Given the description of an element on the screen output the (x, y) to click on. 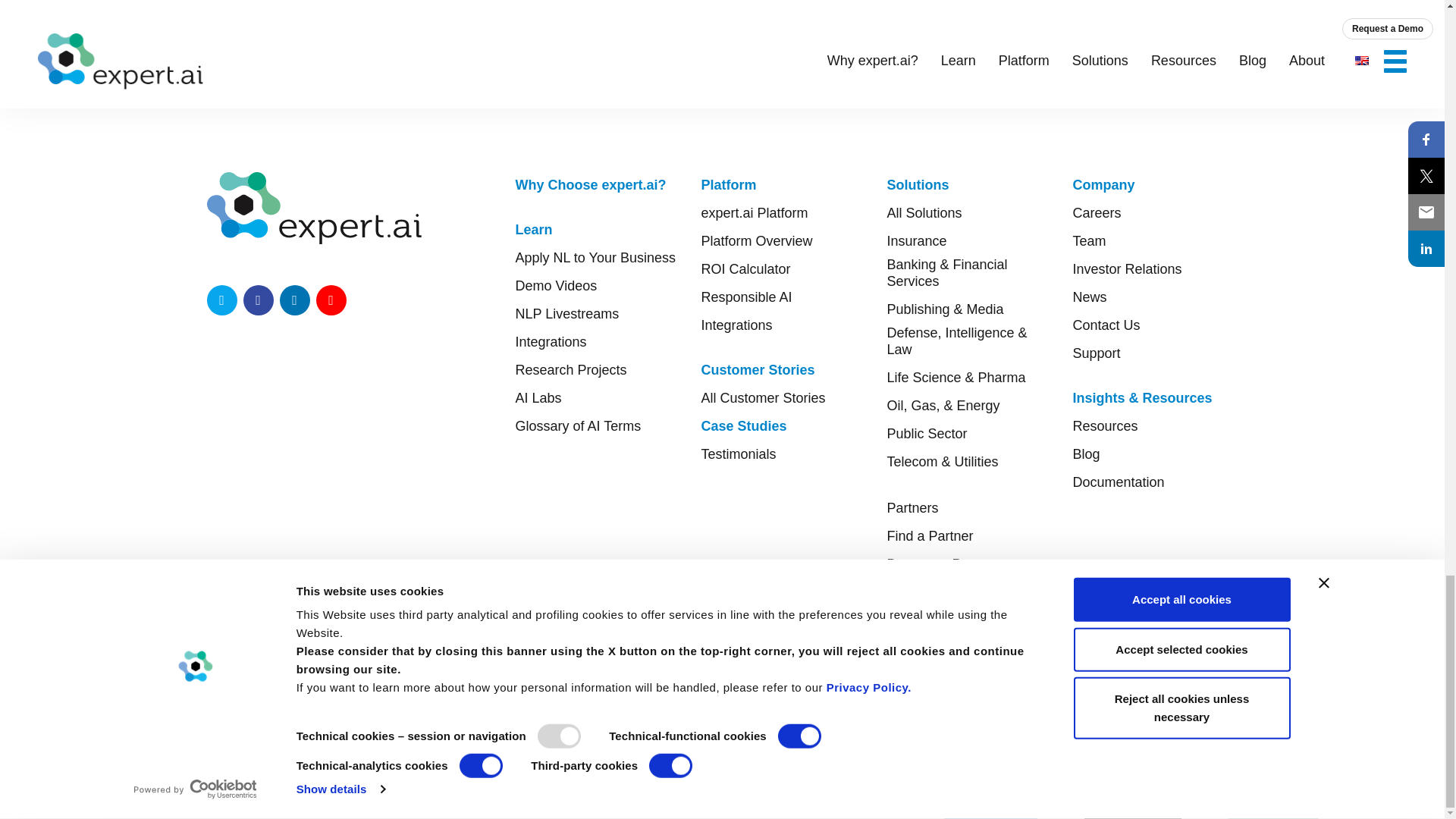
Company (1102, 184)
Research Projects (571, 369)
Integrations (735, 324)
Become a Partner (941, 564)
Platform (727, 184)
All Customer Stories (762, 397)
NLP Livestreams (567, 313)
Integrations (550, 341)
Learn (534, 229)
Investor Relations (1125, 269)
News (1088, 297)
Support (1095, 352)
Public Sector (927, 433)
Apply NL to Your Business (595, 257)
ROI Calculator (745, 269)
